Given the description of an element on the screen output the (x, y) to click on. 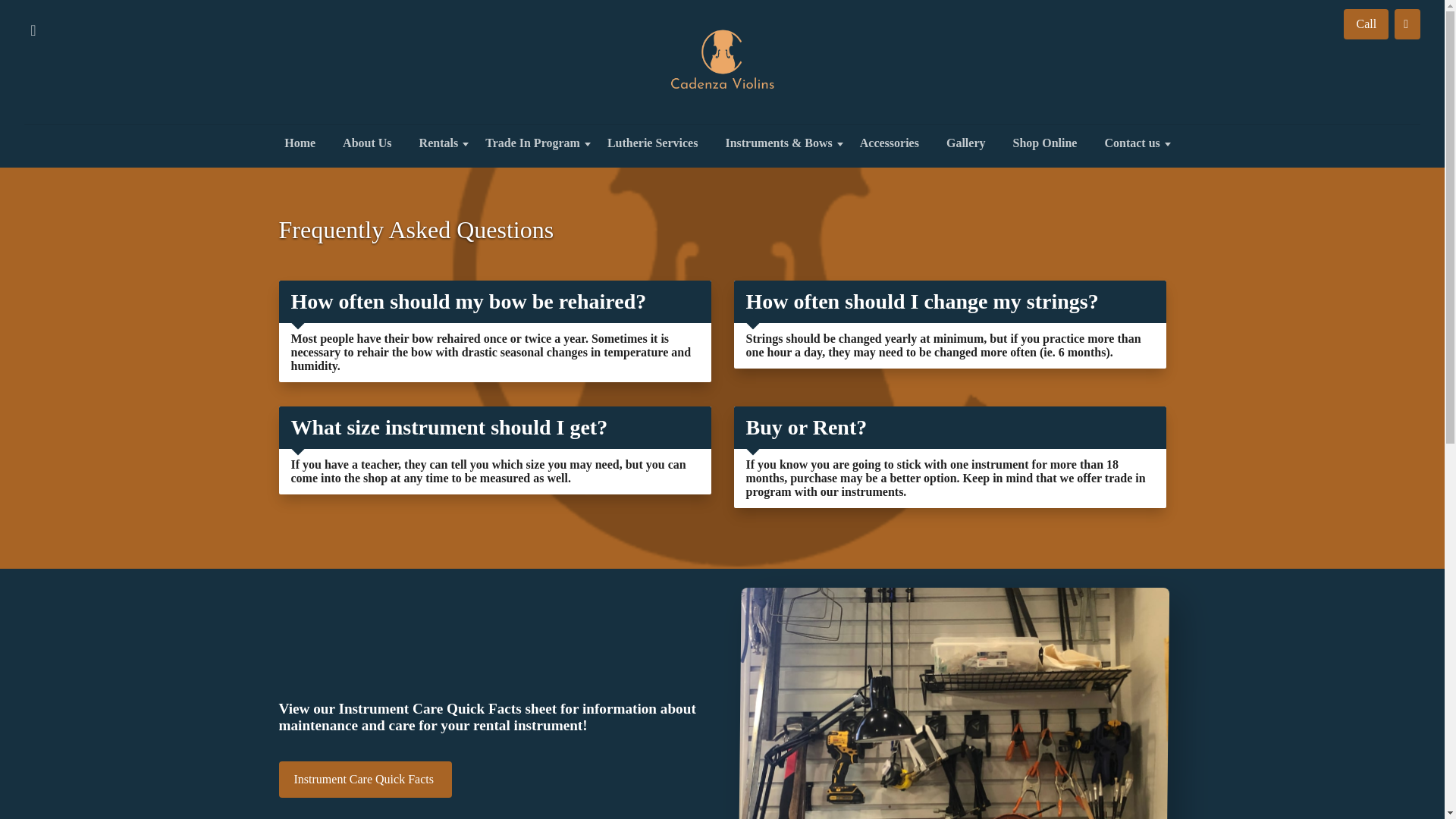
Home (299, 142)
Instrument Care Quick Facts  (365, 779)
Shop Online (1044, 142)
Lutherie Services (652, 142)
Accessories (889, 142)
Trade In Program (532, 142)
About Us (366, 142)
Gallery (965, 142)
Contact us (1132, 142)
Rentals (438, 142)
